Given the description of an element on the screen output the (x, y) to click on. 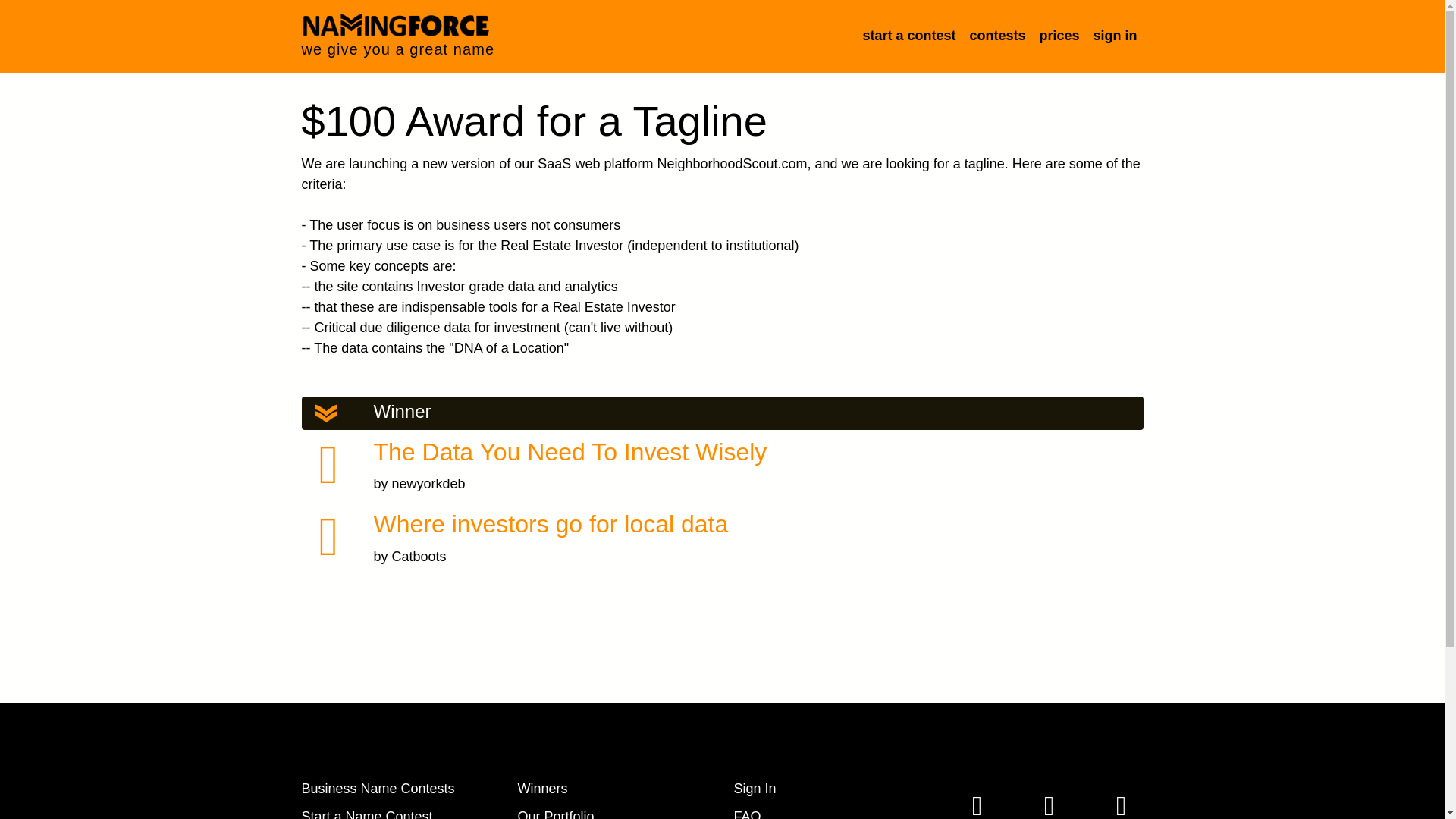
Business Name Contests (377, 788)
Catboots (418, 556)
prices (1057, 35)
contests (995, 35)
chosen winner (328, 464)
start a contest (907, 35)
sign in (1114, 35)
Winners (541, 788)
FAQ (747, 814)
we give you a great name (398, 36)
